Given the description of an element on the screen output the (x, y) to click on. 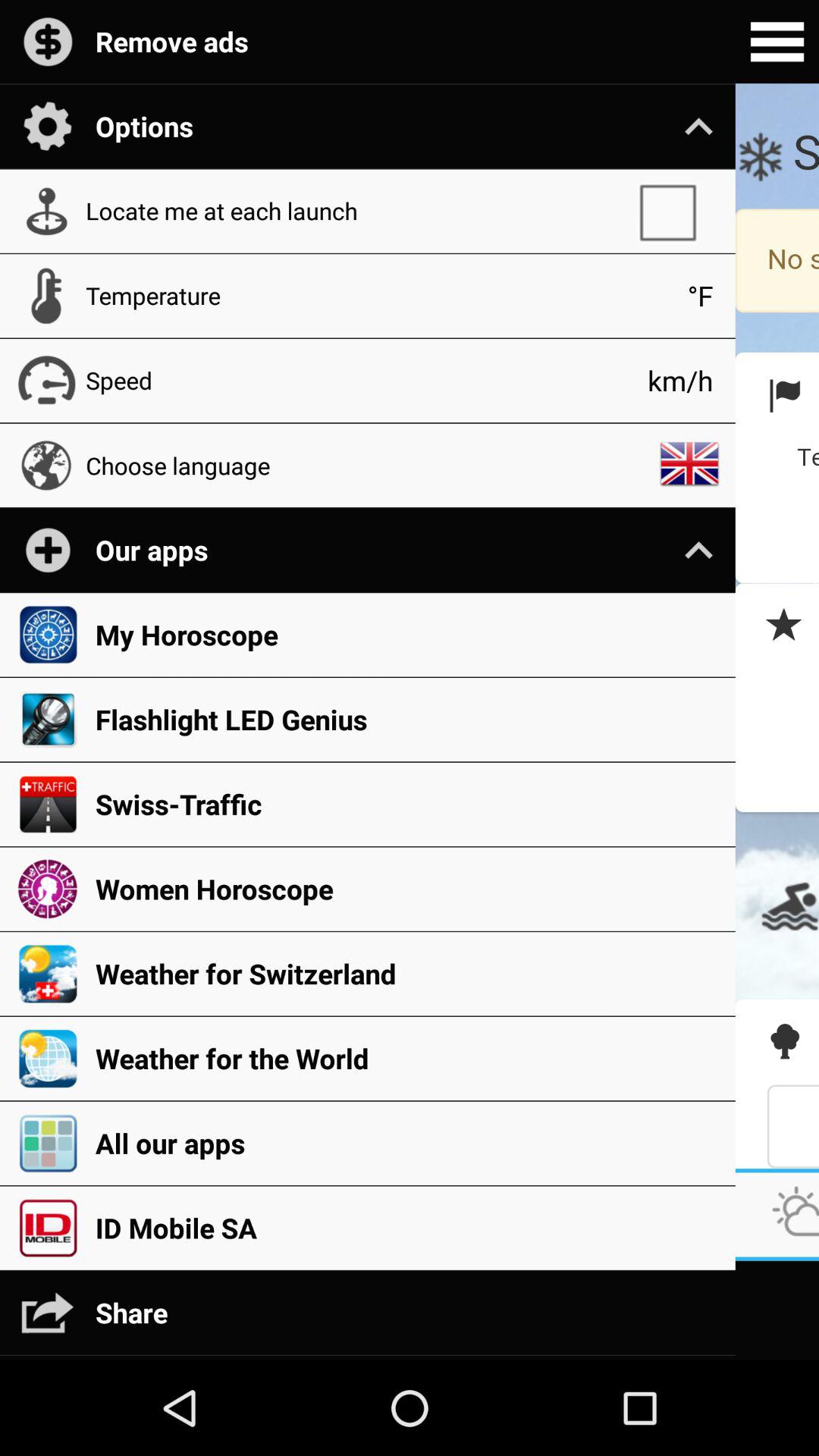
main menu option (777, 41)
